Given the description of an element on the screen output the (x, y) to click on. 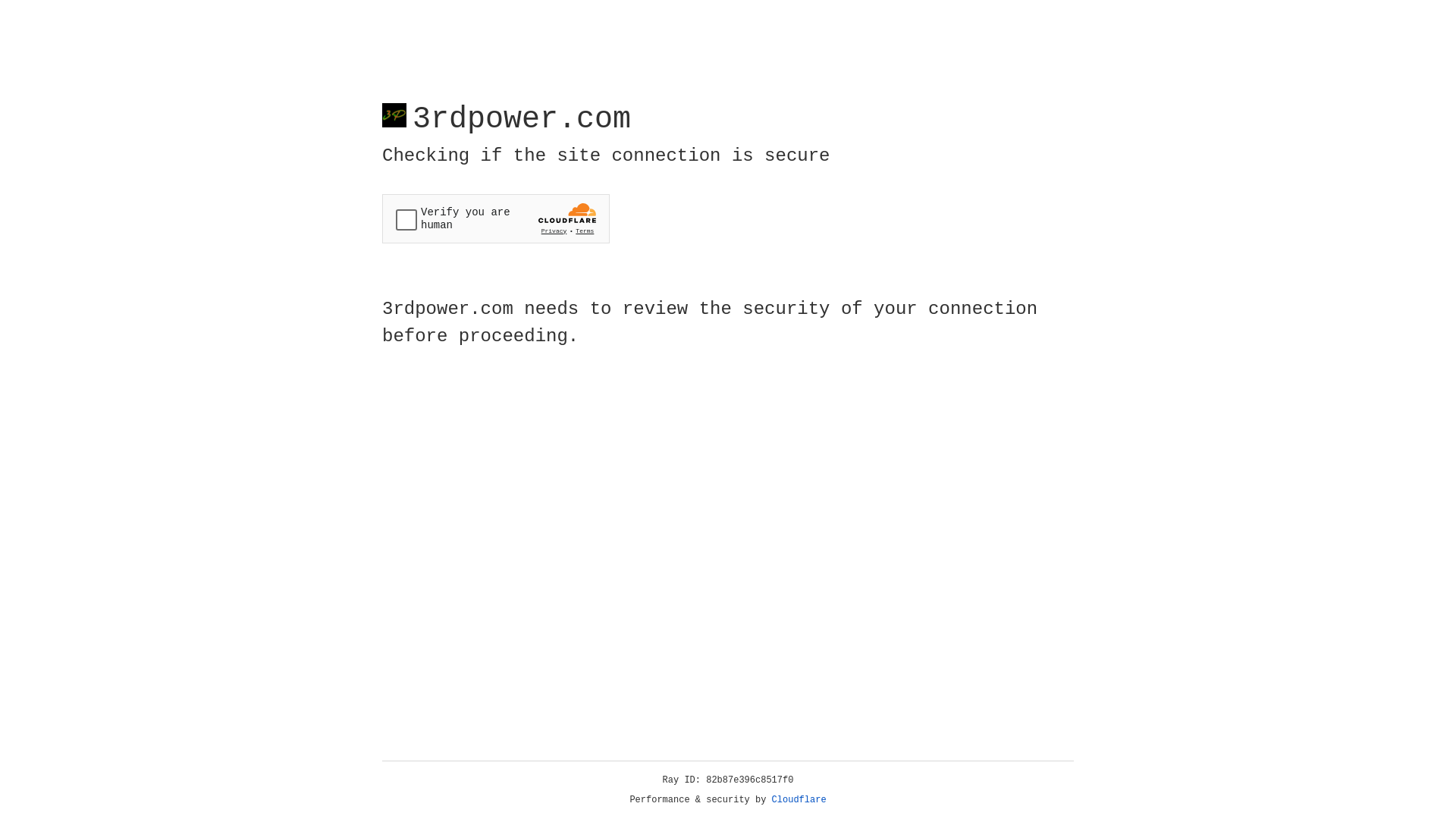
Cloudflare Element type: text (798, 799)
Widget containing a Cloudflare security challenge Element type: hover (495, 218)
